Given the description of an element on the screen output the (x, y) to click on. 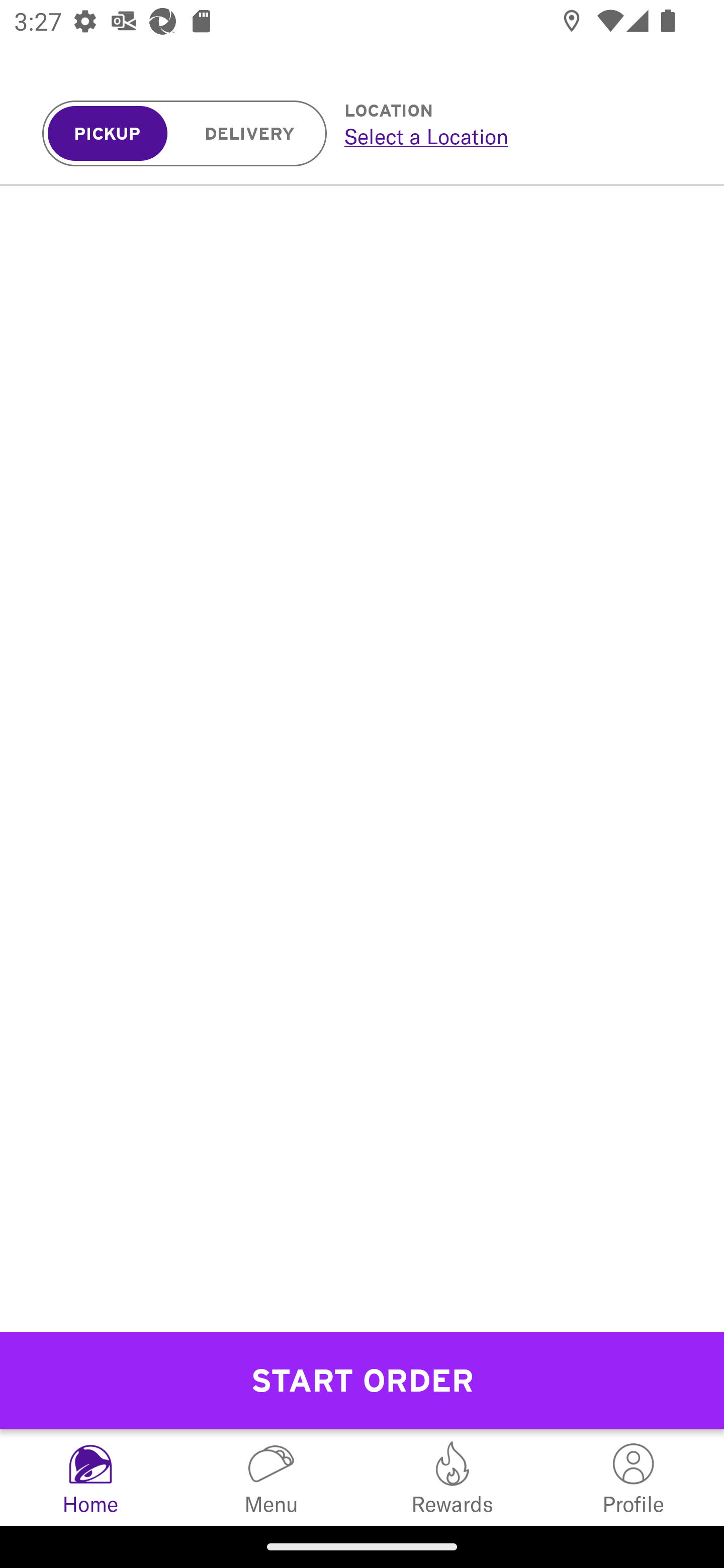
PICKUP (107, 133)
DELIVERY (249, 133)
Select a Location (511, 136)
START ORDER (362, 1379)
Home (90, 1476)
Menu (271, 1476)
Rewards (452, 1476)
My Info Profile (633, 1476)
